Given the description of an element on the screen output the (x, y) to click on. 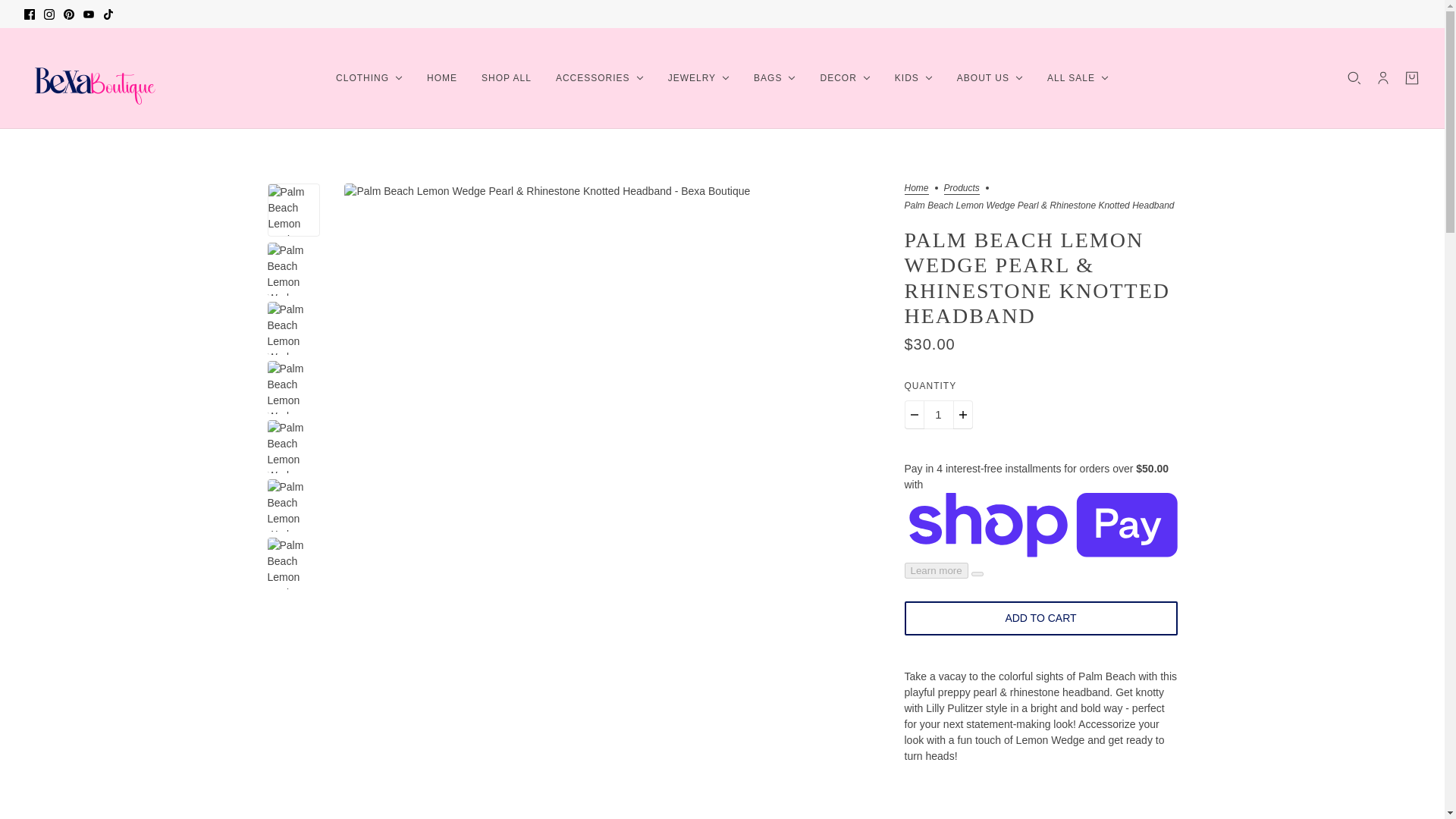
CLOTHING (368, 77)
1 (937, 414)
ACCESSORIES (599, 77)
Bexa Boutique (91, 78)
